Given the description of an element on the screen output the (x, y) to click on. 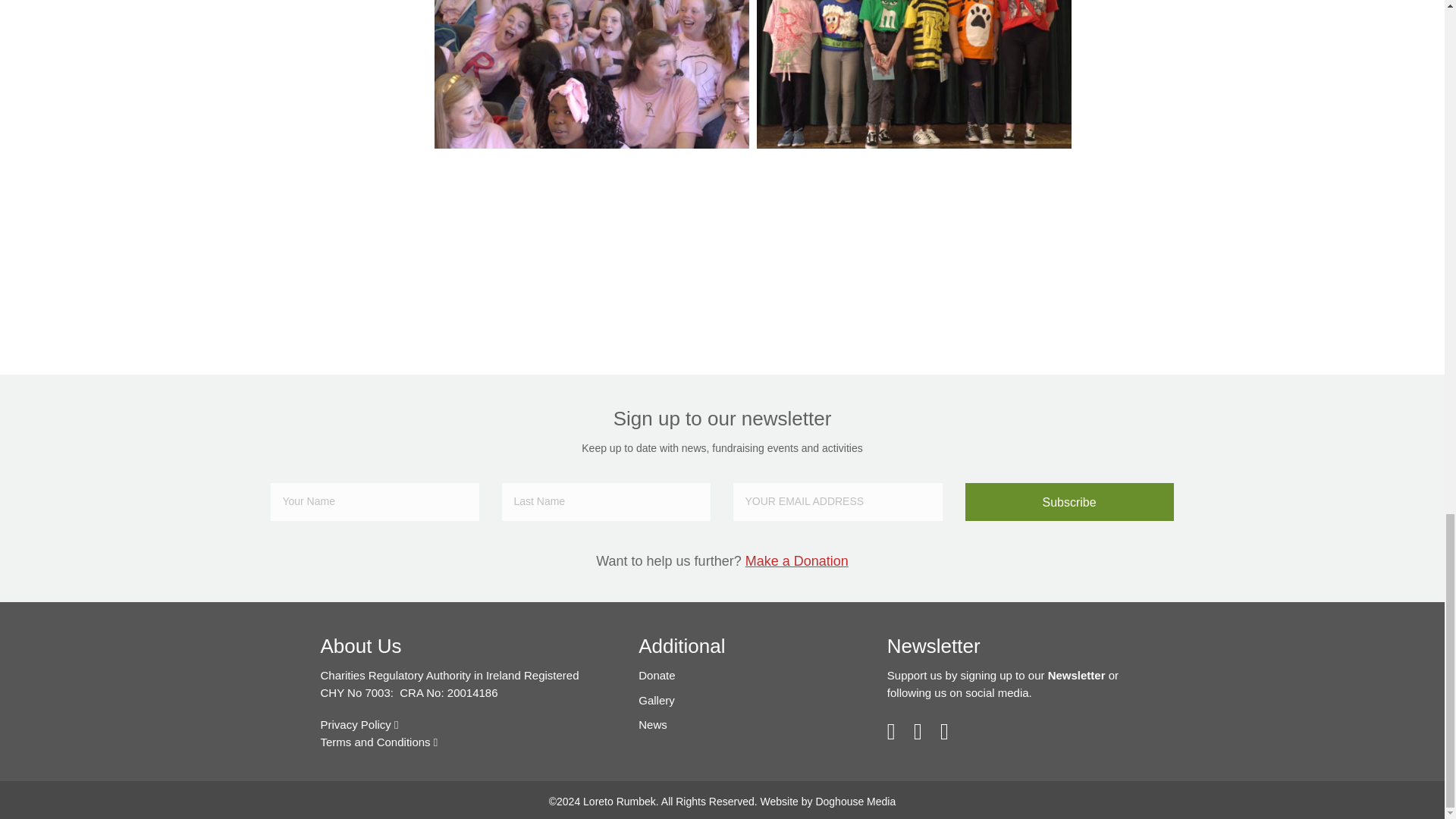
Donate (657, 675)
Terms and Conditions (379, 741)
Balbriggan fundraising 2018 (914, 74)
Subscribe (1069, 501)
Newsletter (932, 645)
Make a Donation (796, 560)
Privacy Policy (358, 724)
Gallery (657, 699)
Balbriggan fundraising 2018-7 (590, 74)
